Given the description of an element on the screen output the (x, y) to click on. 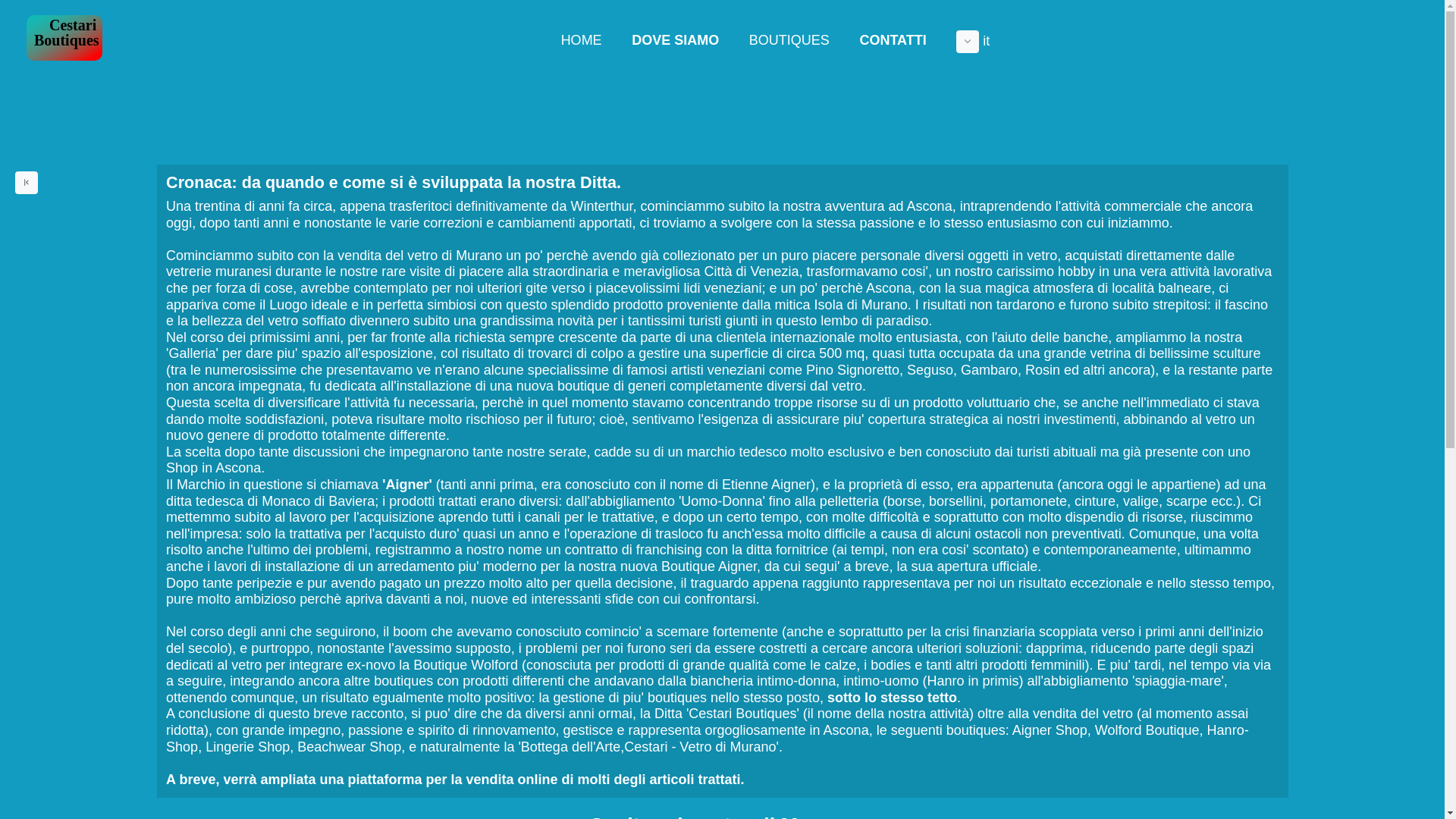
DOVE SIAMO Element type: text (675, 40)
CONTATTI Element type: text (892, 40)
BACK Element type: hover (26, 182)
HOME Element type: text (581, 40)
it Element type: text (973, 41)
BOUTIQUES Element type: text (789, 40)
